Given the description of an element on the screen output the (x, y) to click on. 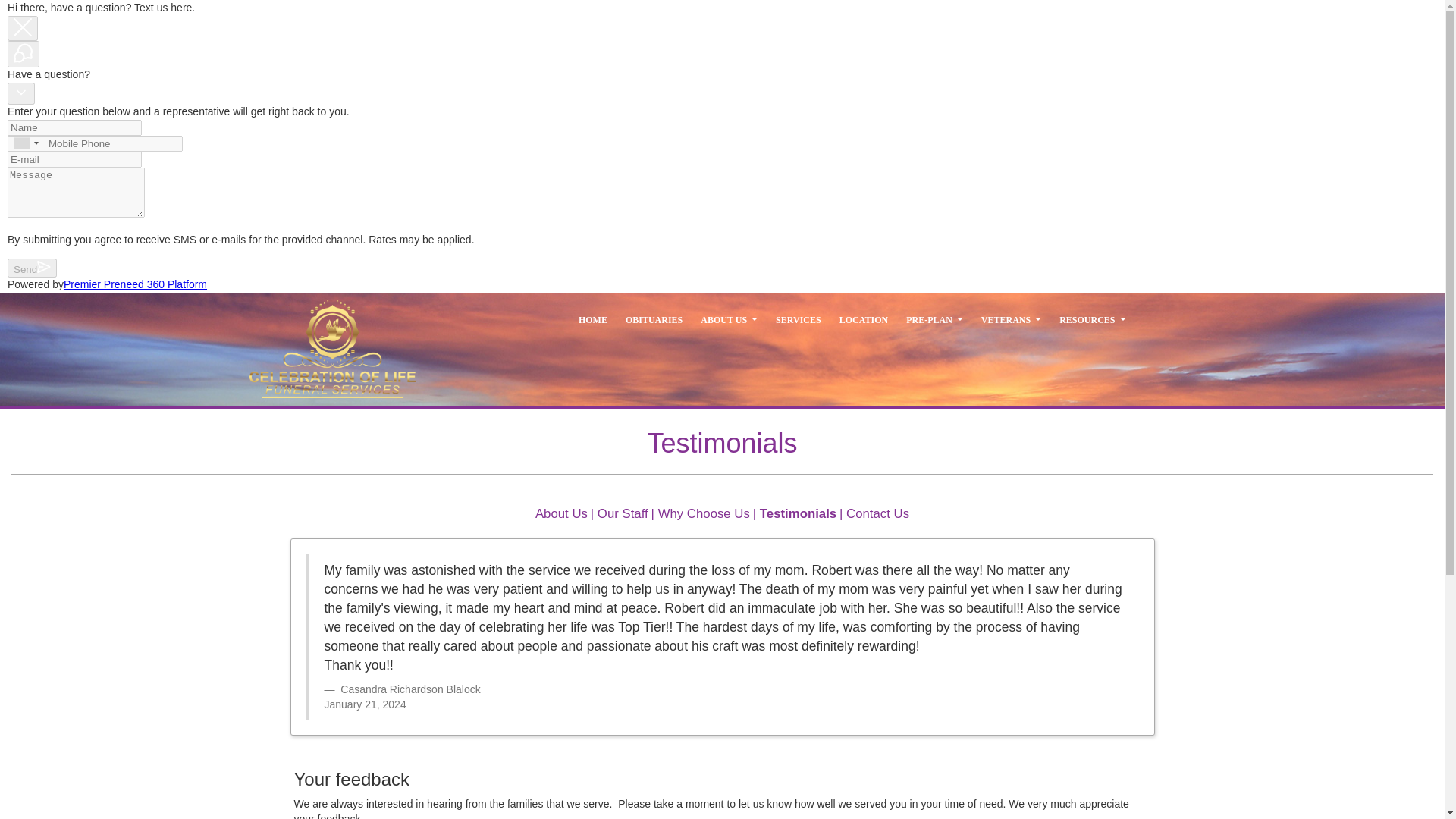
ABOUT US... (729, 319)
HOME (592, 319)
Contact Us (876, 513)
OBITUARIES (653, 319)
About Us (561, 513)
VETERANS... (1010, 319)
Our Staff (621, 513)
Why Choose Us (703, 513)
RESOURCES... (1091, 319)
SERVICES (798, 319)
LOCATION (862, 319)
PRE-PLAN... (934, 319)
Testimonials (797, 513)
